Given the description of an element on the screen output the (x, y) to click on. 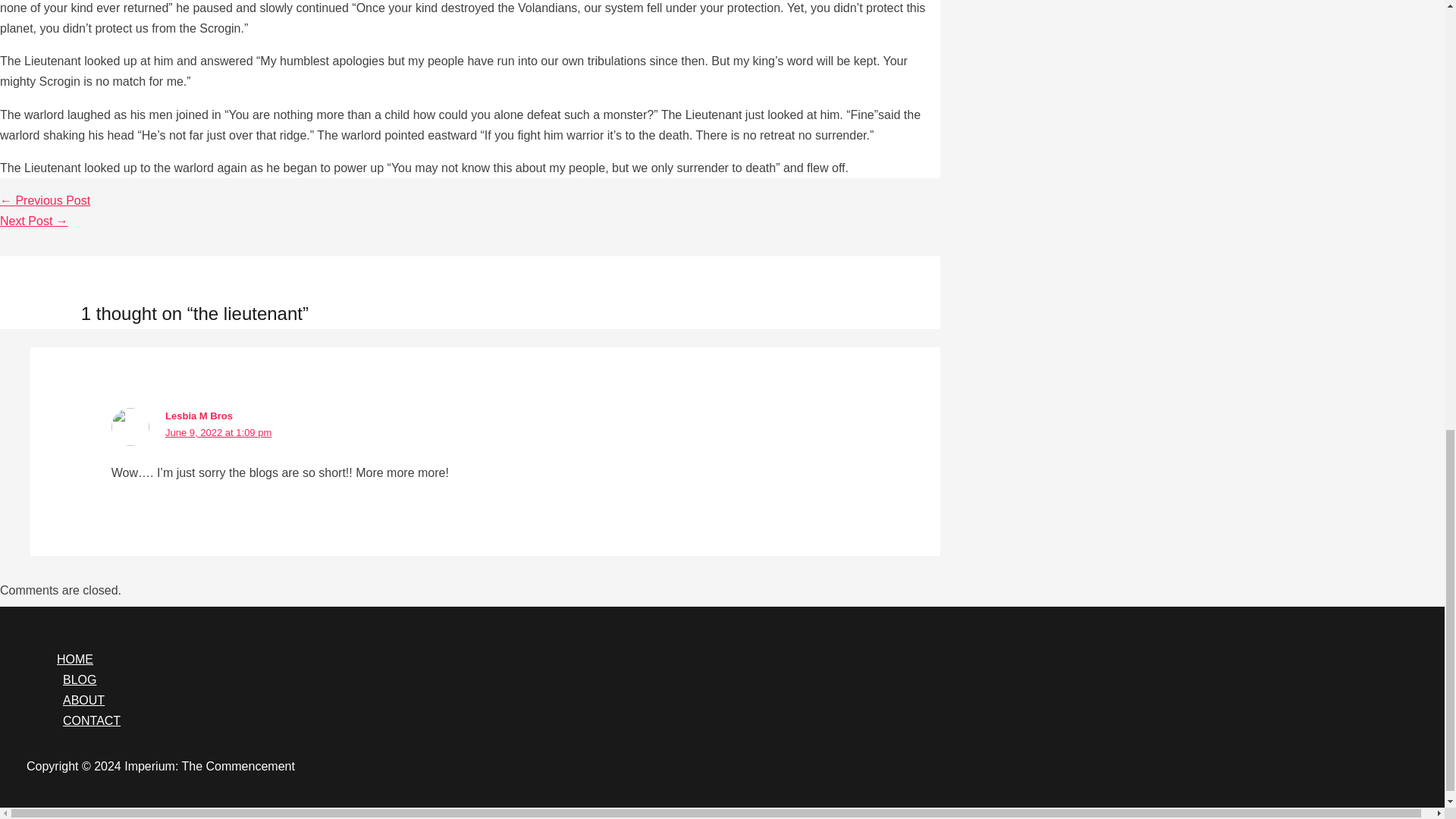
CONTACT (737, 720)
HOME (737, 659)
ABOUT (737, 700)
BLOG (737, 679)
June 9, 2022 at 1:09 pm (217, 432)
